Given the description of an element on the screen output the (x, y) to click on. 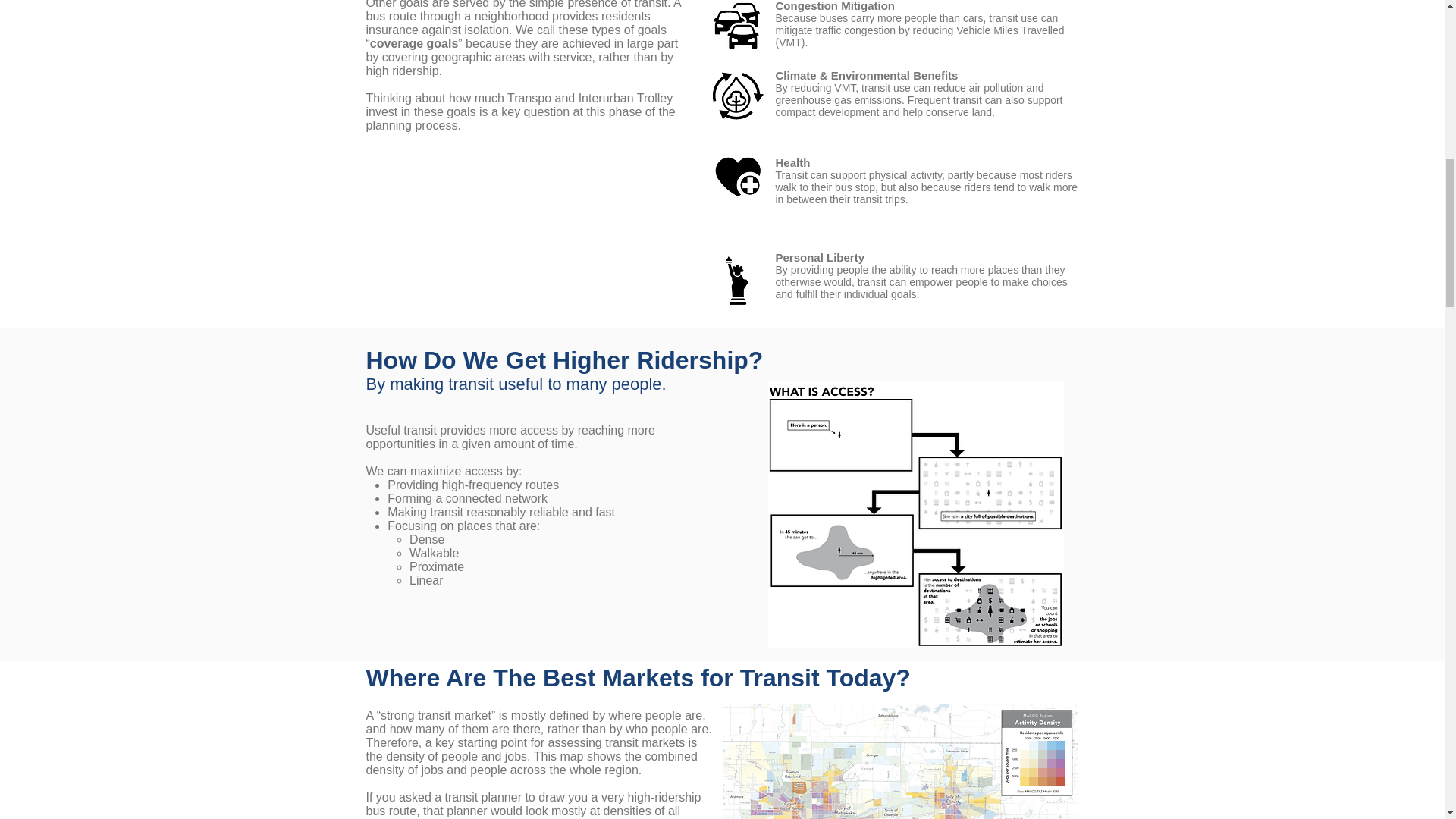
What is Access? (914, 514)
Map of Acitivity Density in St. Joseph and Elkhrt Counties (899, 761)
